Given the description of an element on the screen output the (x, y) to click on. 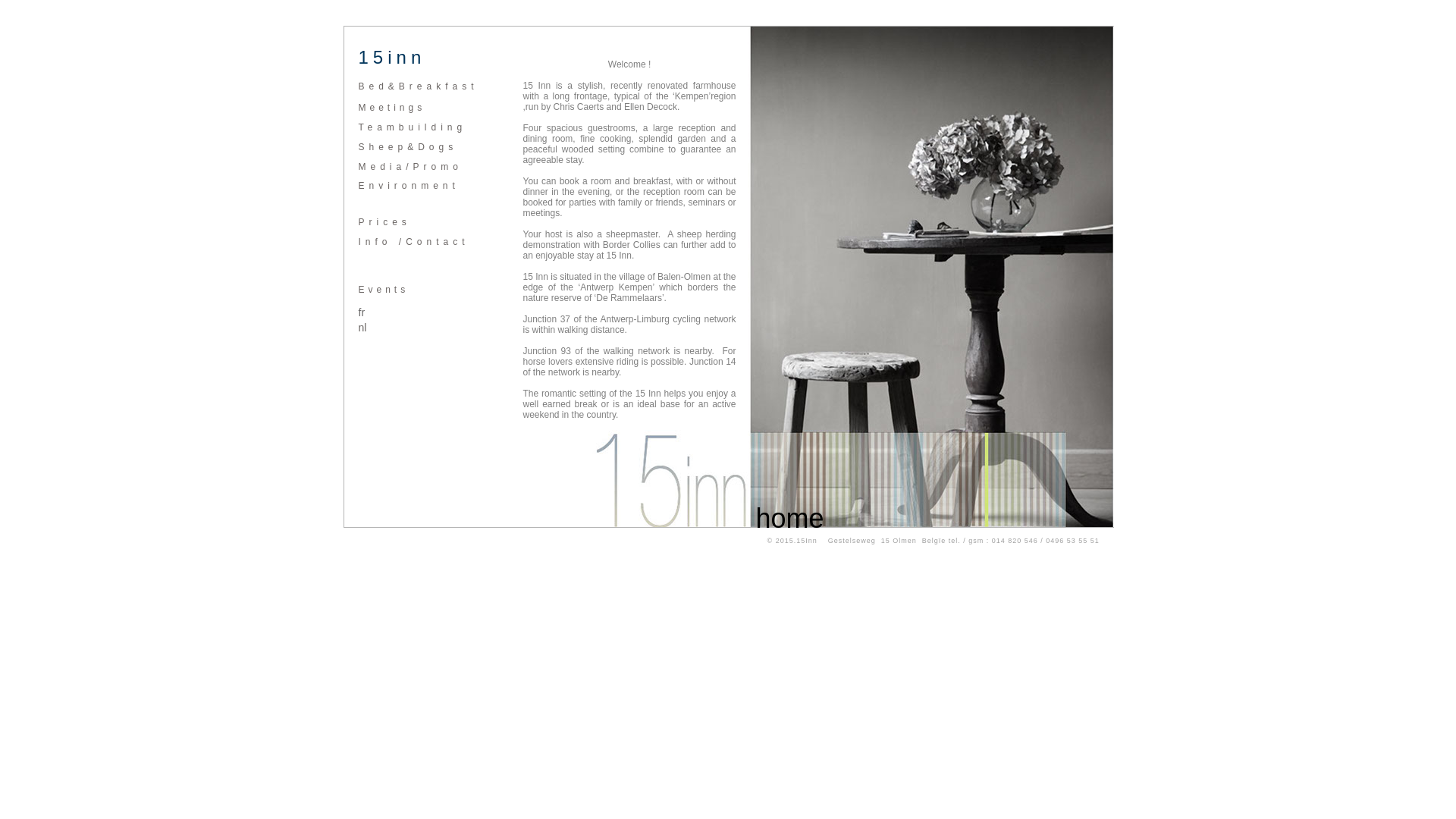
Sheep&Dogs Element type: text (407, 146)
Teambuilding Element type: text (411, 127)
Events Element type: text (382, 289)
Bed&Breakfast Element type: text (417, 86)
Media/Promo Element type: text (409, 166)
Prices Element type: text (383, 221)
fr Element type: text (360, 312)
nl Element type: text (361, 327)
Environment Element type: text (407, 185)
Info /Contact Element type: text (412, 241)
15inn Element type: text (391, 58)
Meetings Element type: text (391, 107)
